Given the description of an element on the screen output the (x, y) to click on. 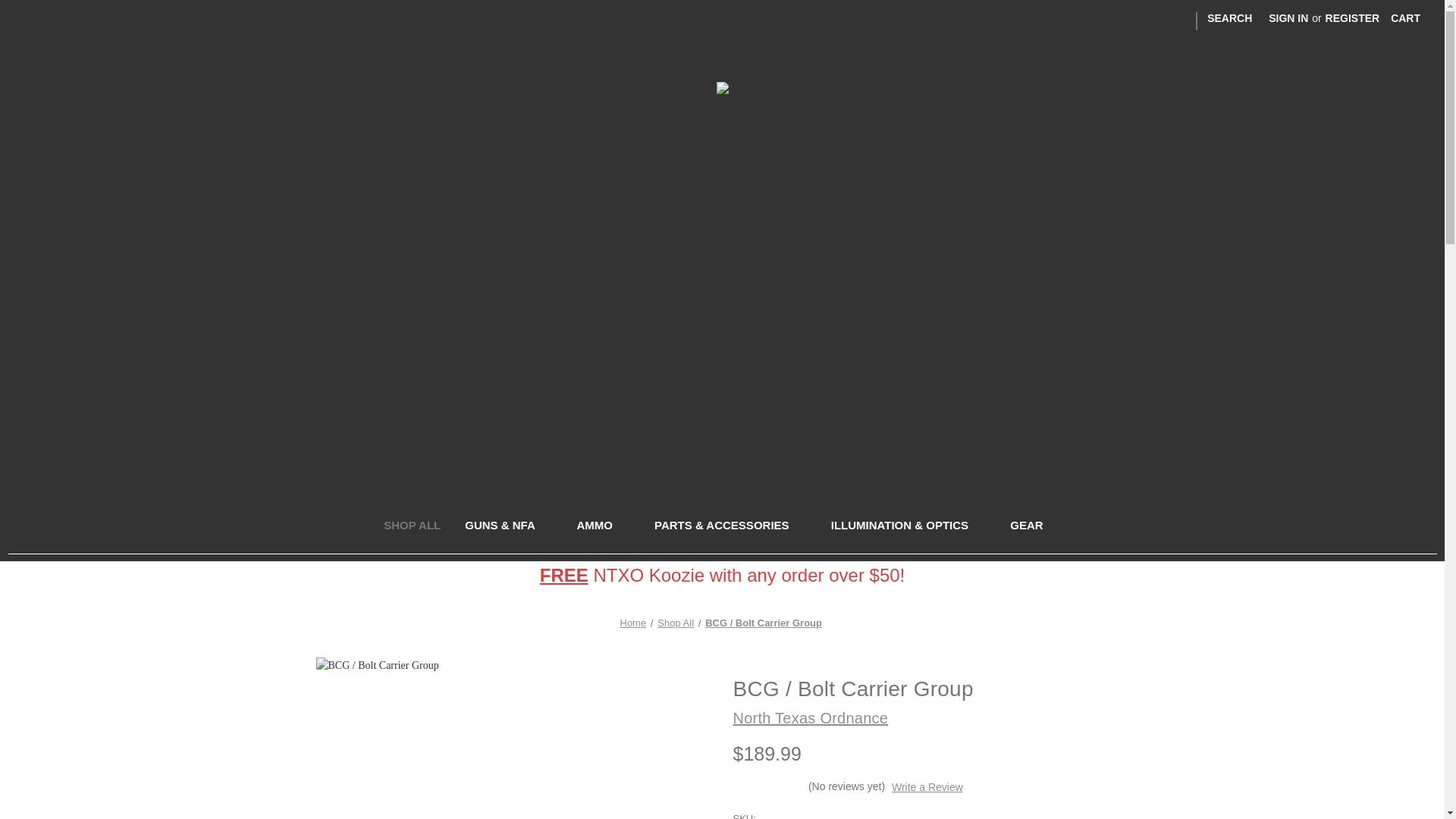
North Texas Ordnance (722, 87)
SHOP ALL (411, 527)
CART (1404, 18)
Instagram (1181, 20)
SEARCH (1229, 18)
Facebook (1153, 20)
REGISTER (1353, 18)
AMMO (603, 527)
SIGN IN (1288, 18)
